Given the description of an element on the screen output the (x, y) to click on. 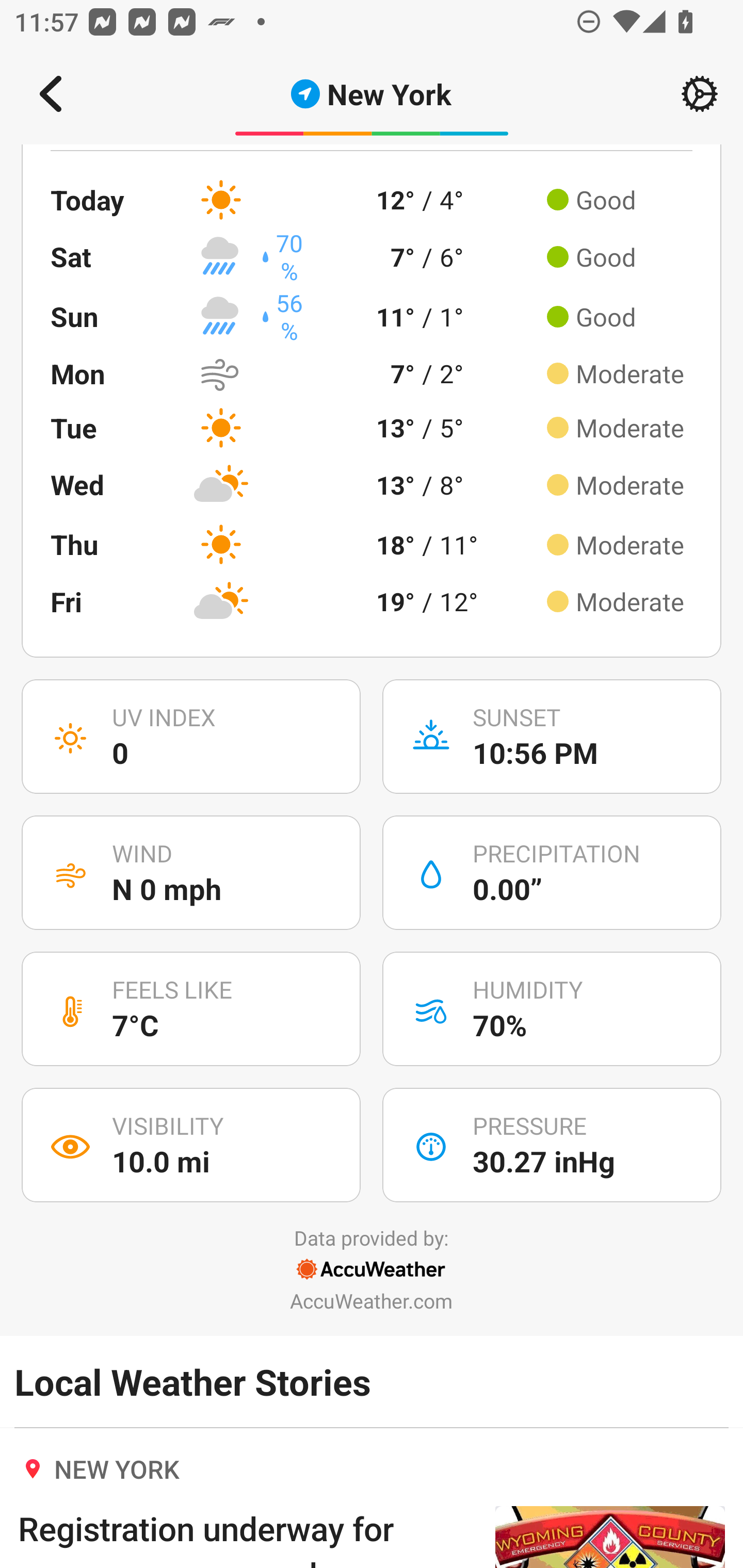
Navigate up (50, 93)
Setting (699, 93)
